Given the description of an element on the screen output the (x, y) to click on. 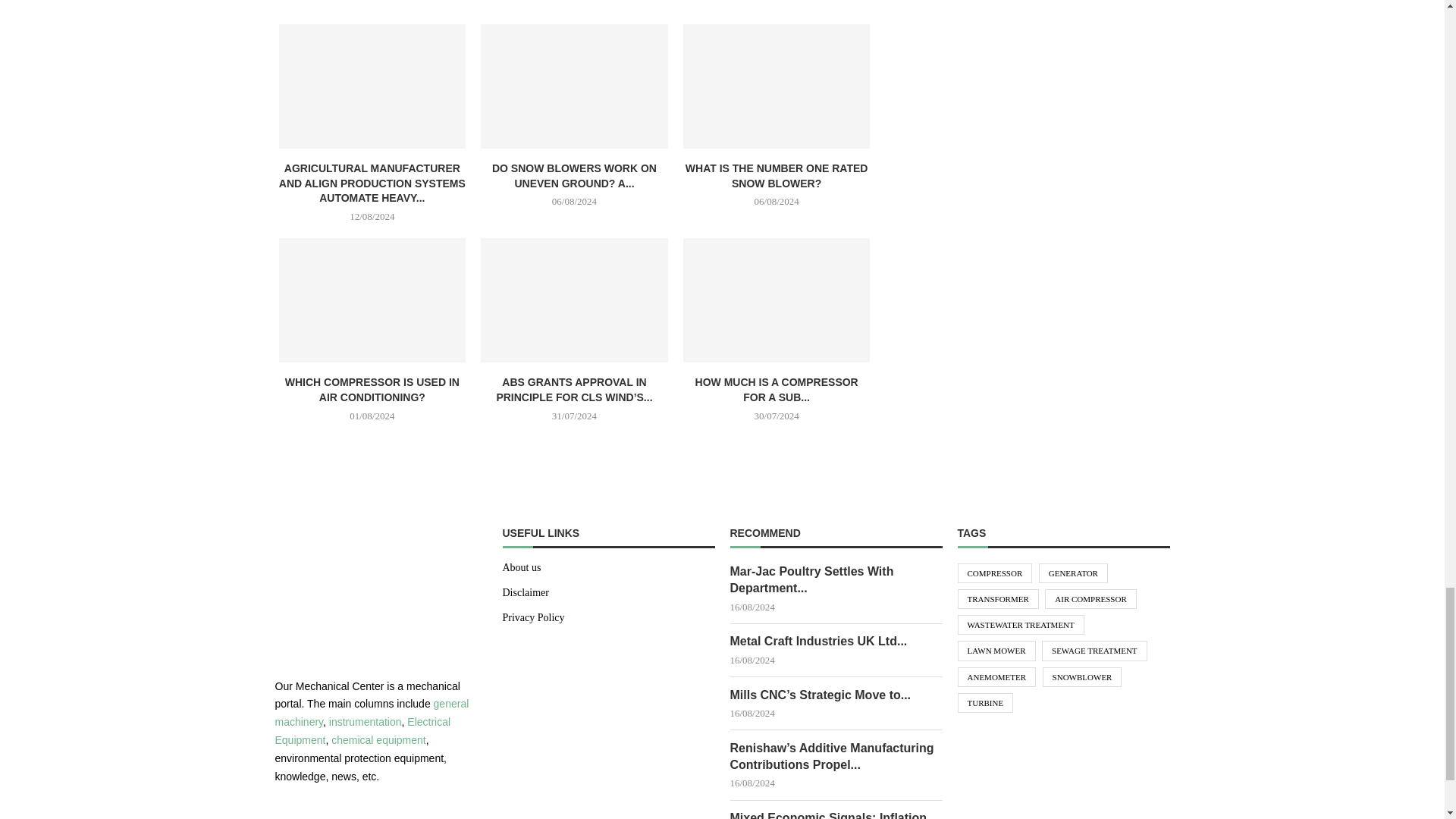
Which Compressor is Used in Air Conditioning? (372, 300)
What is the number one rated snow blower? (776, 86)
How Much Is A Compressor For A Sub Zero Refrigerator (776, 300)
